Given the description of an element on the screen output the (x, y) to click on. 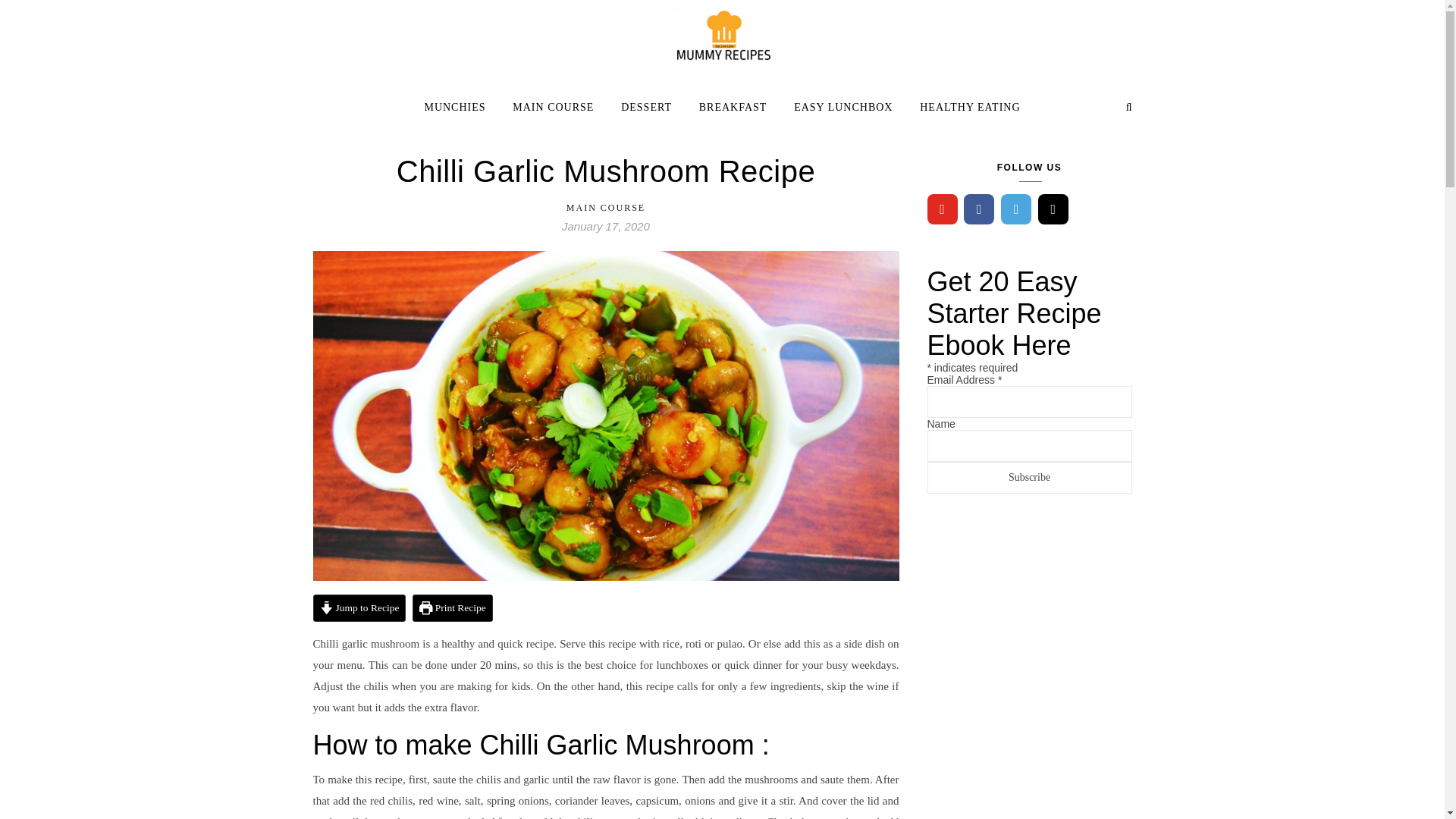
MUNCHIES (460, 107)
Jump to Recipe (359, 608)
Twitter (1015, 209)
EASY LUNCHBOX (842, 107)
Subscribe (1028, 477)
BREAKFAST (732, 107)
MUMMY RECIPES (721, 35)
YouTube (941, 209)
DESSERT (646, 107)
Subscribe (1028, 477)
Facebook (978, 209)
Print Recipe (452, 608)
MAIN COURSE (605, 207)
Instagram (1053, 209)
HEALTHY EATING (963, 107)
